Given the description of an element on the screen output the (x, y) to click on. 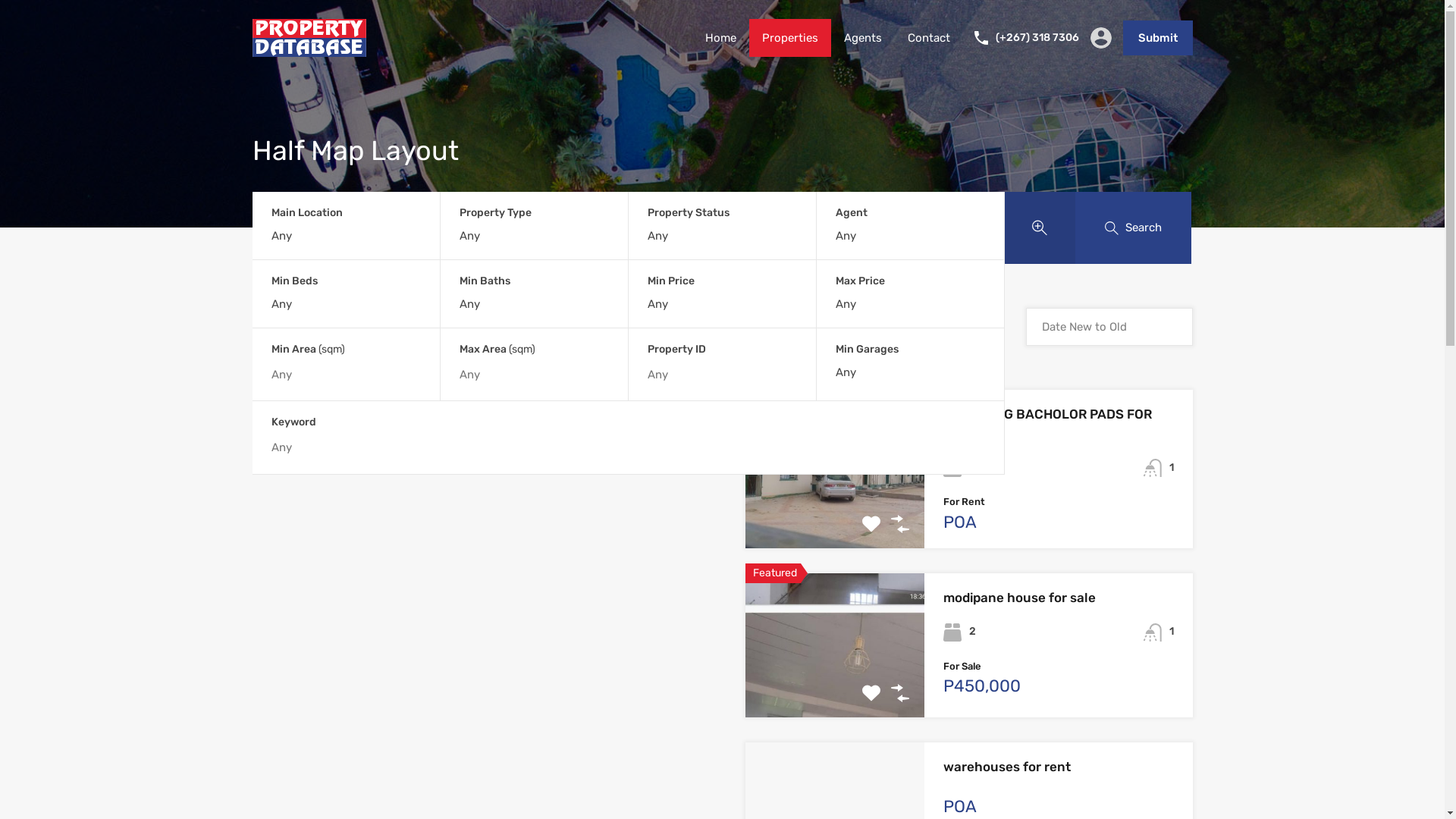
Properties Element type: text (790, 37)
TLOKWENG BACHOLOR PADS FOR RENT Element type: text (1047, 423)
Contact Element type: text (928, 37)
(+267) 318 7306 Element type: text (1036, 37)
Only provide digits! Element type: hover (345, 374)
Submit Element type: text (1157, 37)
Only provide digits! Element type: hover (533, 374)
Agents Element type: text (862, 37)
Property Database Element type: hover (308, 49)
Home Element type: text (719, 37)
modipane house for sale Element type: text (1019, 597)
warehouses for rent Element type: text (1006, 766)
